Given the description of an element on the screen output the (x, y) to click on. 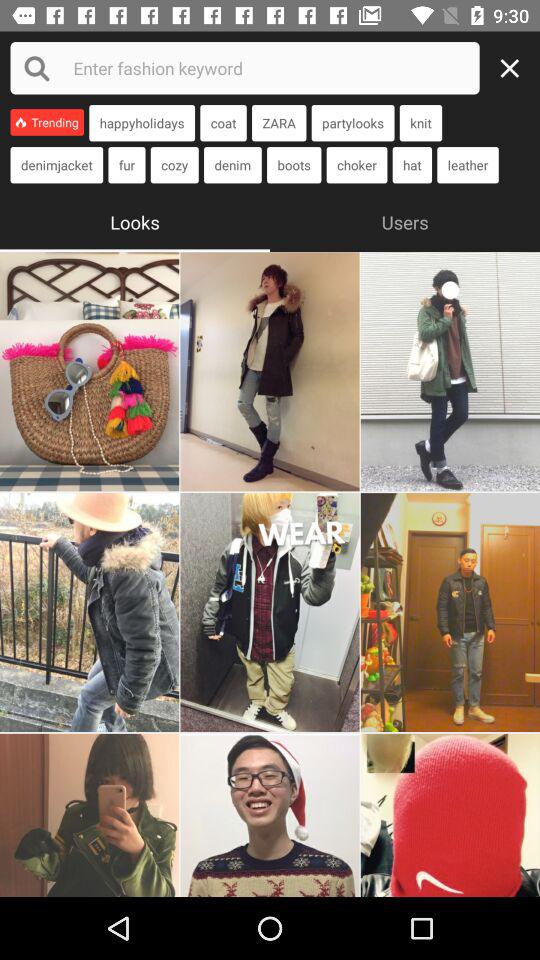
view outfit (269, 815)
